Given the description of an element on the screen output the (x, y) to click on. 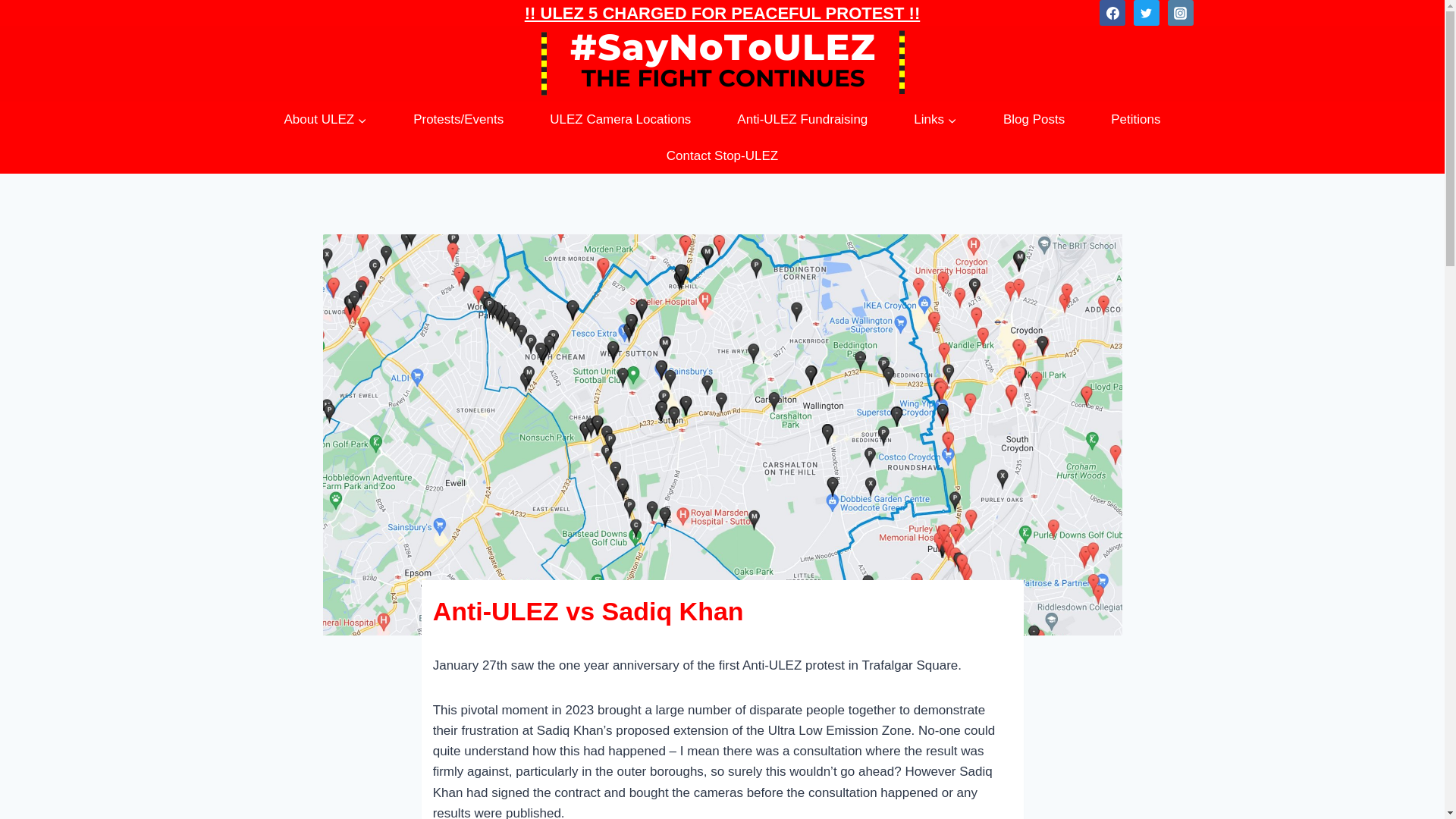
!! ULEZ 5 CHARGED FOR PEACEFUL PROTEST !! (722, 12)
ULEZ Camera Locations (620, 119)
Blog Posts (1033, 119)
Anti-ULEZ Fundraising (802, 119)
Petitions (1135, 119)
About ULEZ (325, 119)
Links (935, 119)
Contact Stop-ULEZ (721, 156)
